Given the description of an element on the screen output the (x, y) to click on. 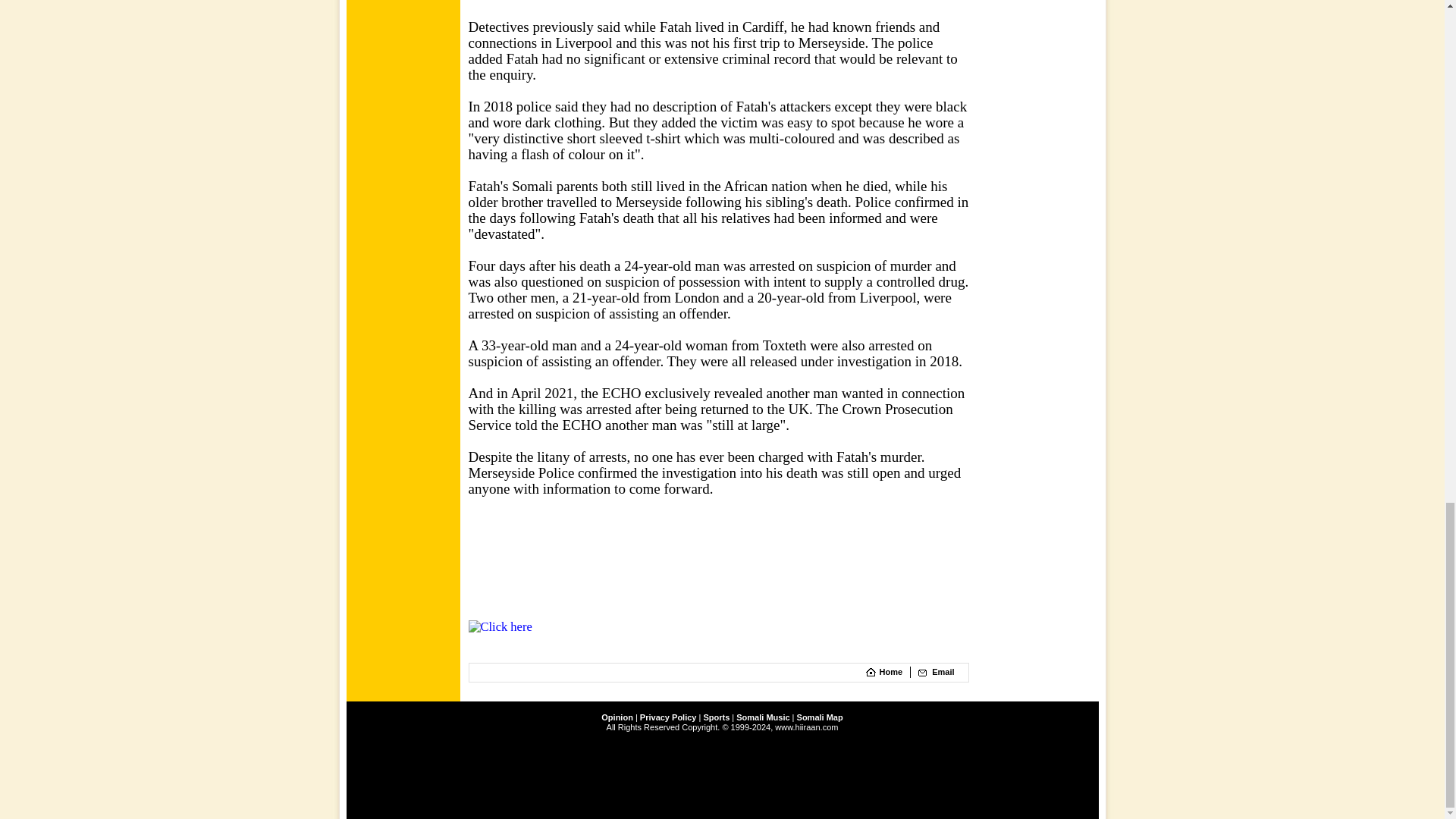
Opinion (617, 716)
Email (942, 671)
Home (890, 671)
Sports (716, 716)
Privacy Policy (668, 716)
Somali Map (819, 716)
Somali Music (762, 716)
